Given the description of an element on the screen output the (x, y) to click on. 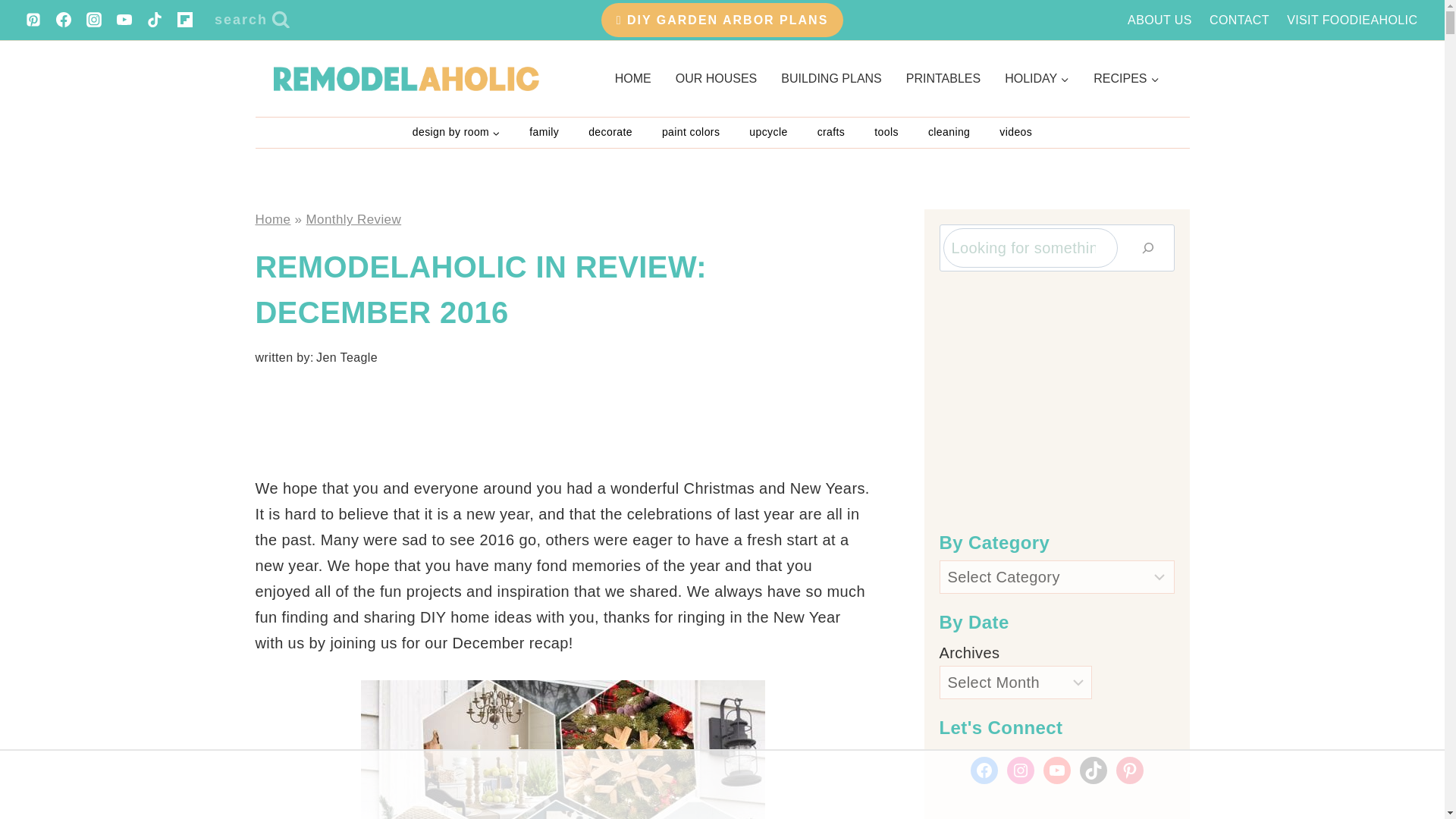
VISIT FOODIEAHOLIC (1352, 19)
HOME (632, 78)
BUILDING PLANS (830, 78)
PRINTABLES (942, 78)
search (252, 19)
HOLIDAY (1036, 78)
ABOUT US (1160, 19)
OUR HOUSES (716, 78)
CONTACT (1238, 19)
RECIPES (1125, 78)
